Given the description of an element on the screen output the (x, y) to click on. 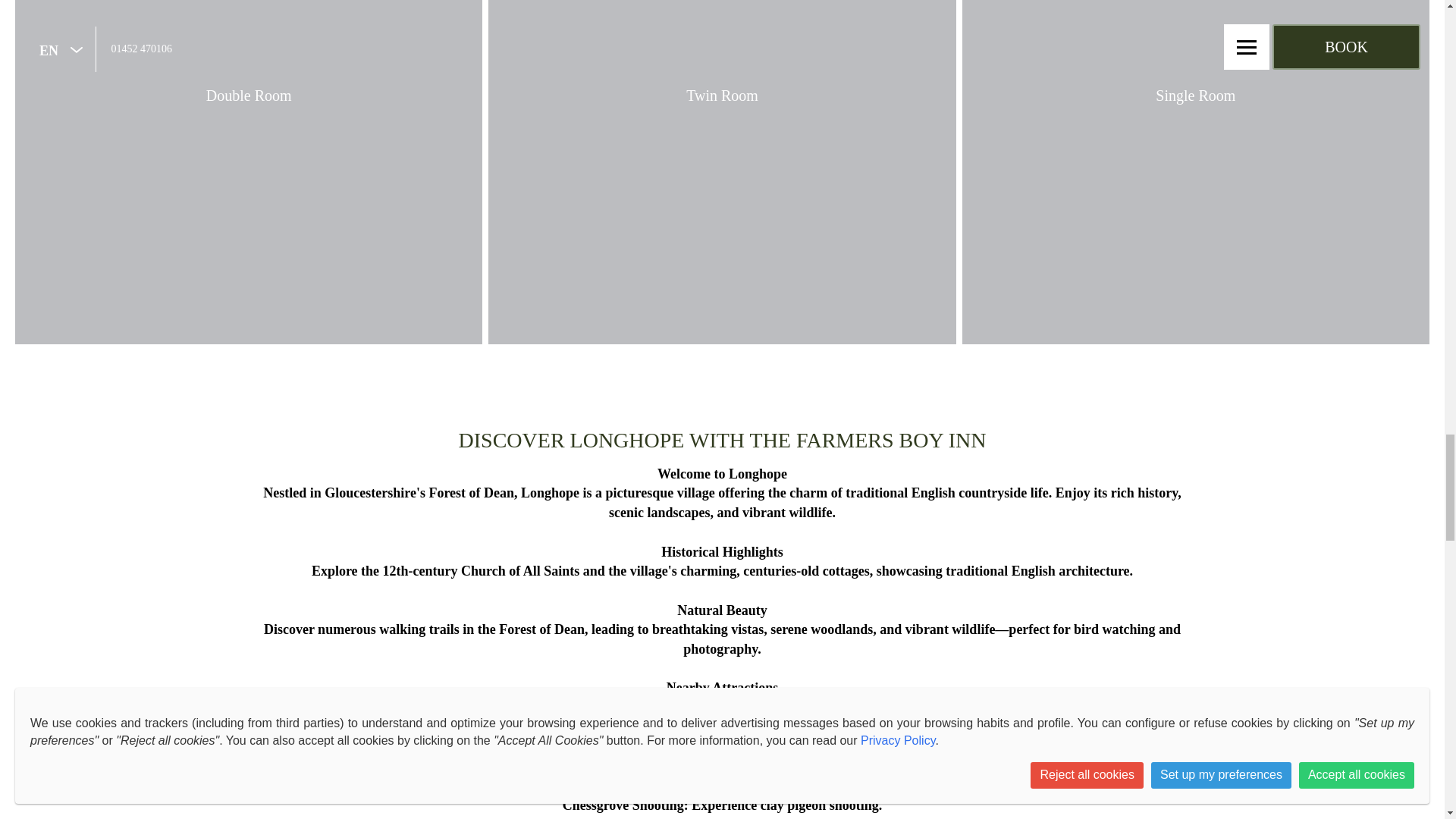
Three Choirs Vineyards: (632, 765)
Chessgrove Shooting (623, 805)
